Given the description of an element on the screen output the (x, y) to click on. 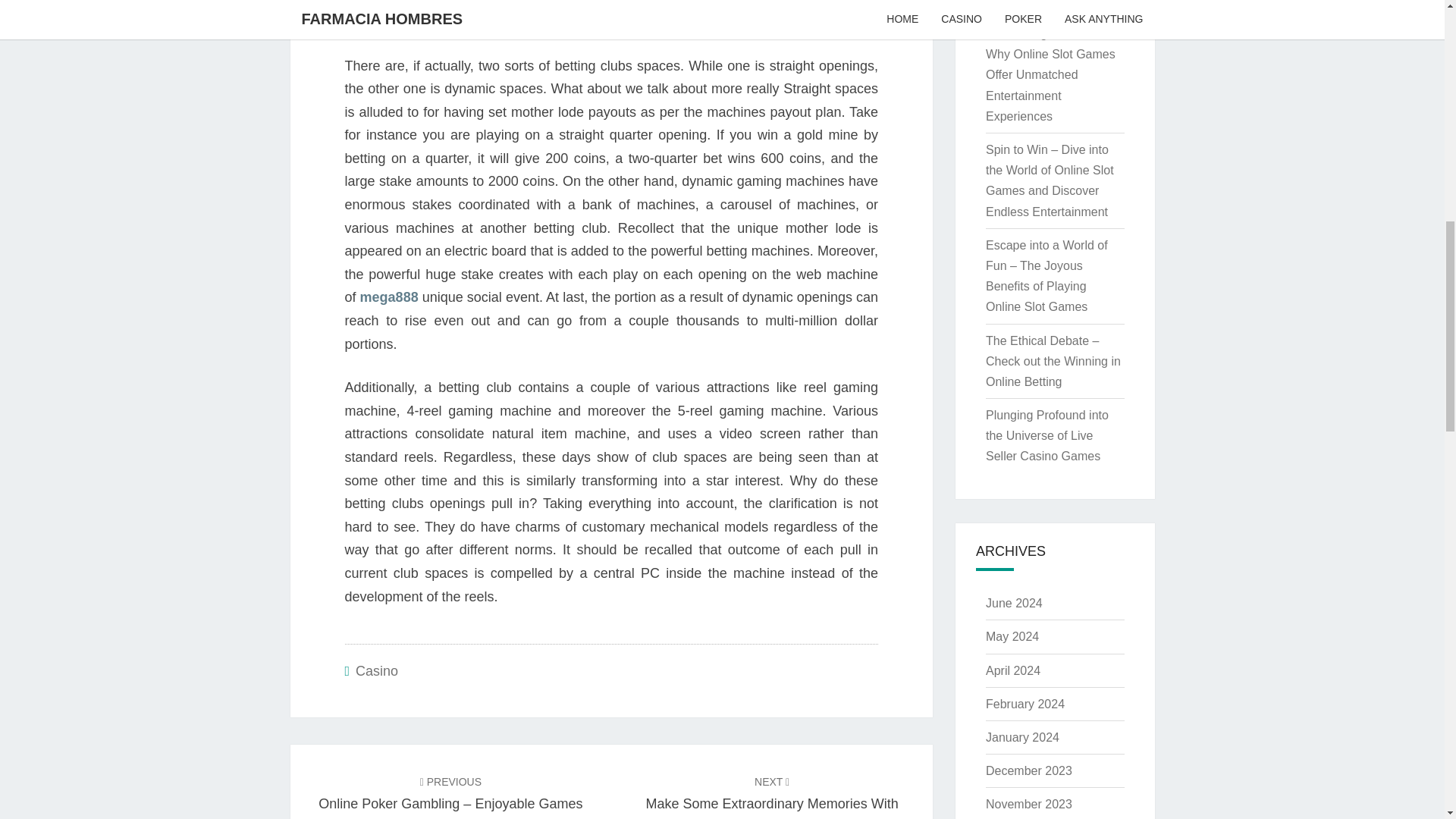
Casino (376, 670)
January 2024 (1022, 737)
May 2024 (1012, 635)
June 2024 (1013, 603)
December 2023 (1028, 770)
mega888 (389, 296)
November 2023 (1028, 803)
April 2024 (1013, 670)
February 2024 (1024, 703)
